Given the description of an element on the screen output the (x, y) to click on. 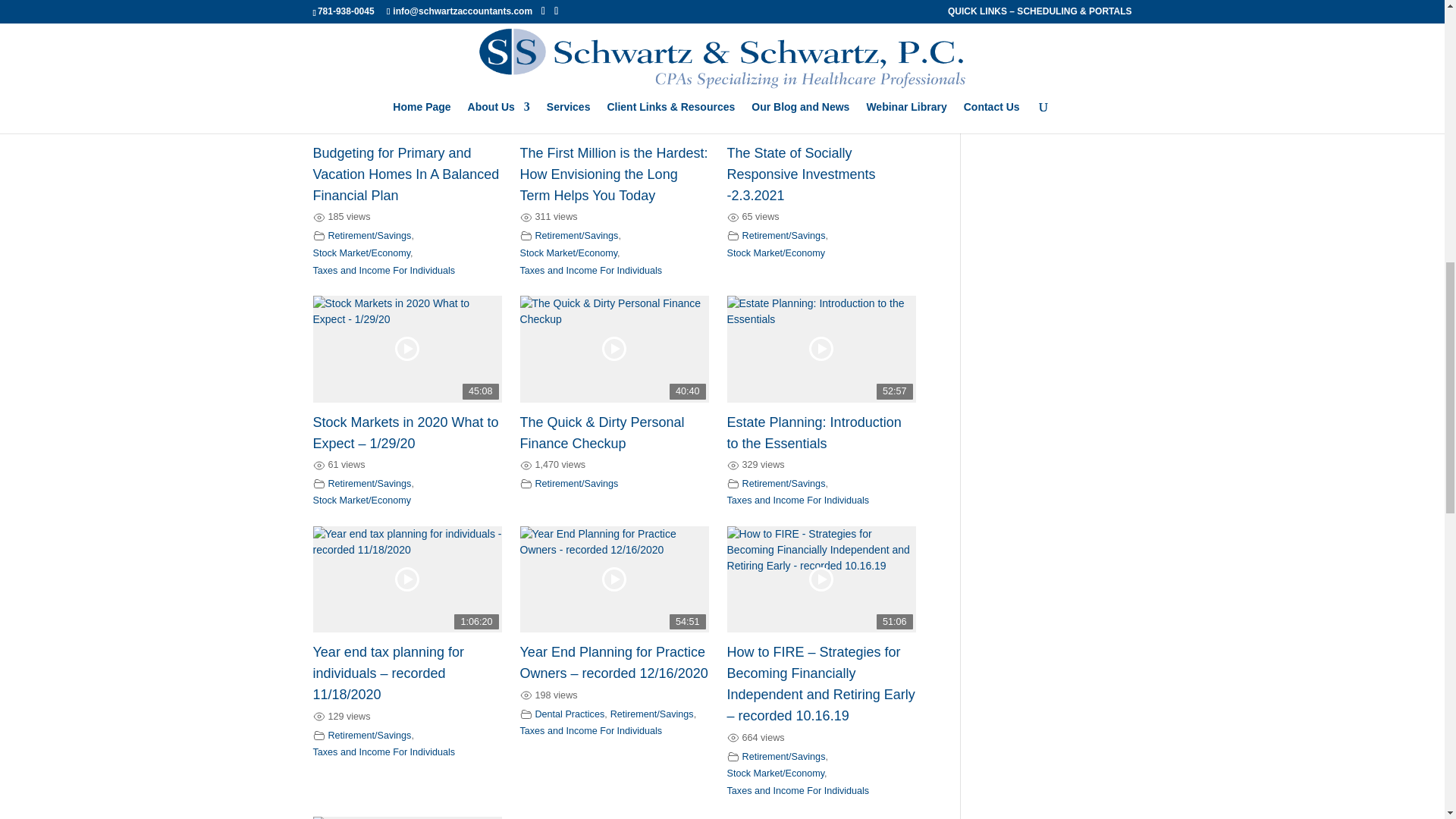
Taxes and Income For Individuals (383, 270)
36:37 (406, 80)
Taxes and Income For Individuals (590, 270)
36:10 (614, 80)
